Given the description of an element on the screen output the (x, y) to click on. 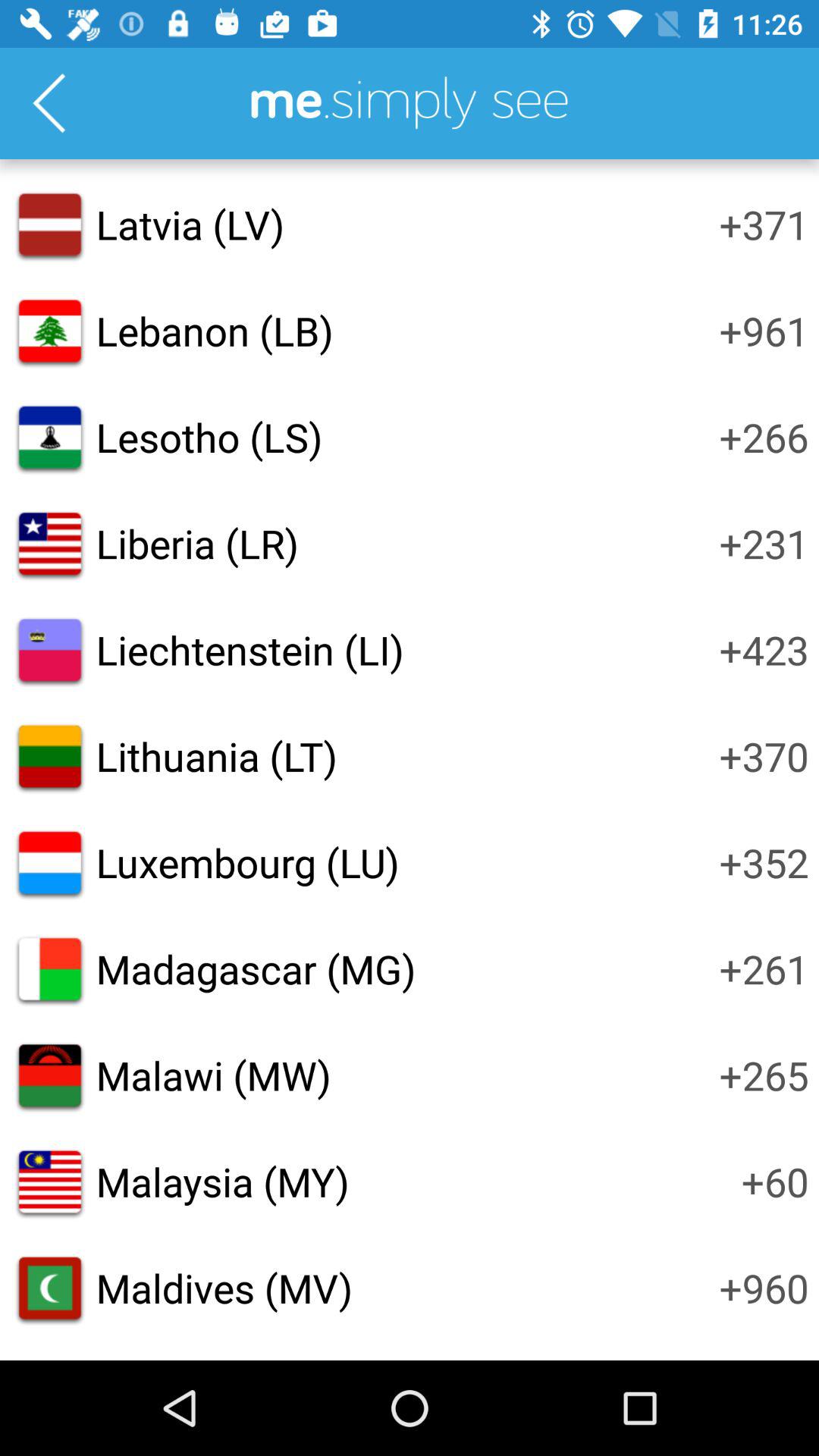
turn off icon to the right of lithuania (lt) item (763, 755)
